Given the description of an element on the screen output the (x, y) to click on. 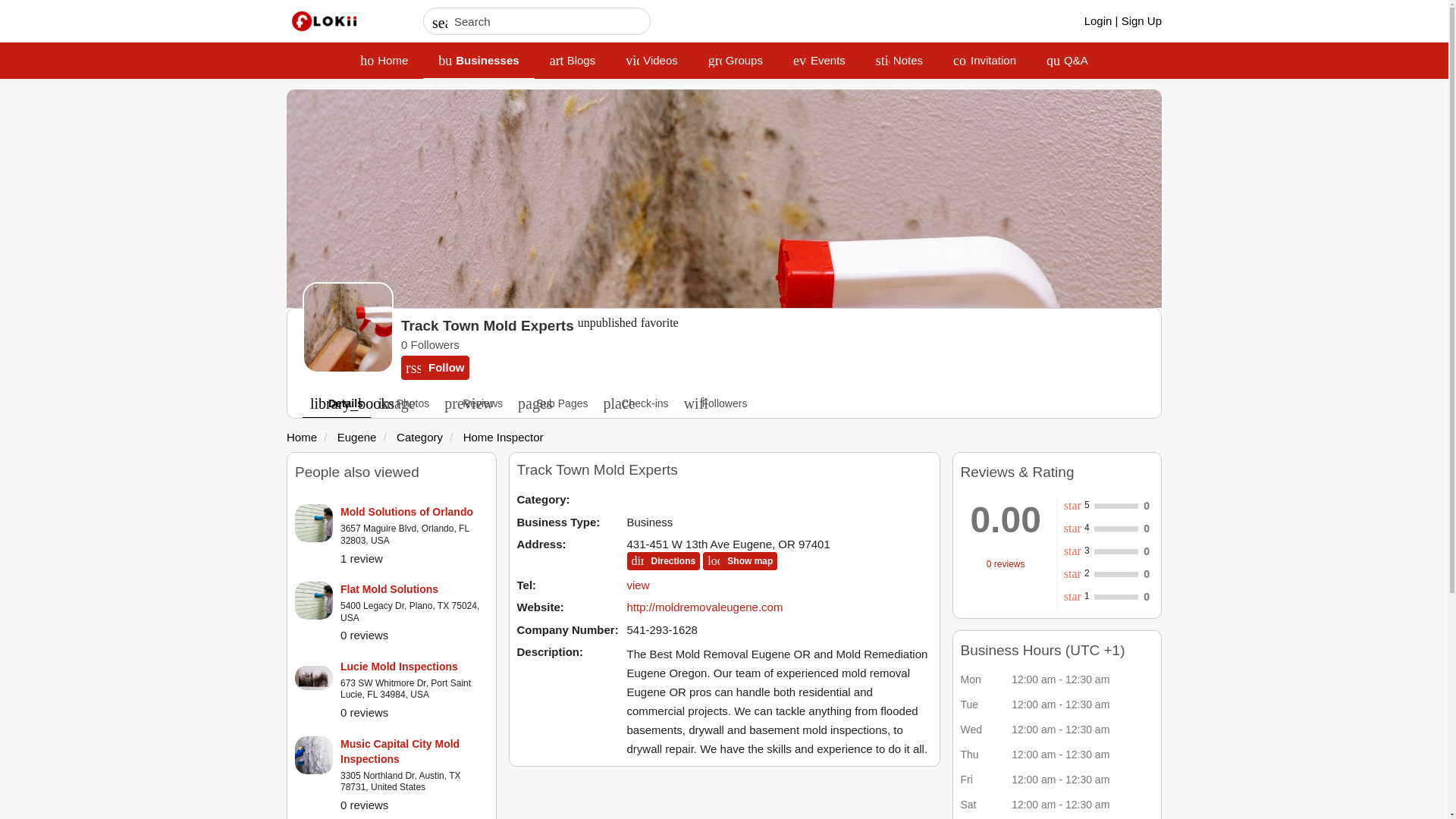
Home (301, 436)
Mold Solutions of Orlando (413, 511)
favorite (659, 326)
unpublished (818, 60)
0 Followers (607, 326)
Home Inspector (773, 345)
preview Reviews (503, 436)
Sign Up (473, 402)
Add to favorite (1141, 20)
image Photos (659, 326)
Category (403, 402)
Eugene (419, 436)
Lucie Mold Inspections (357, 436)
wifi Followers (413, 666)
